Given the description of an element on the screen output the (x, y) to click on. 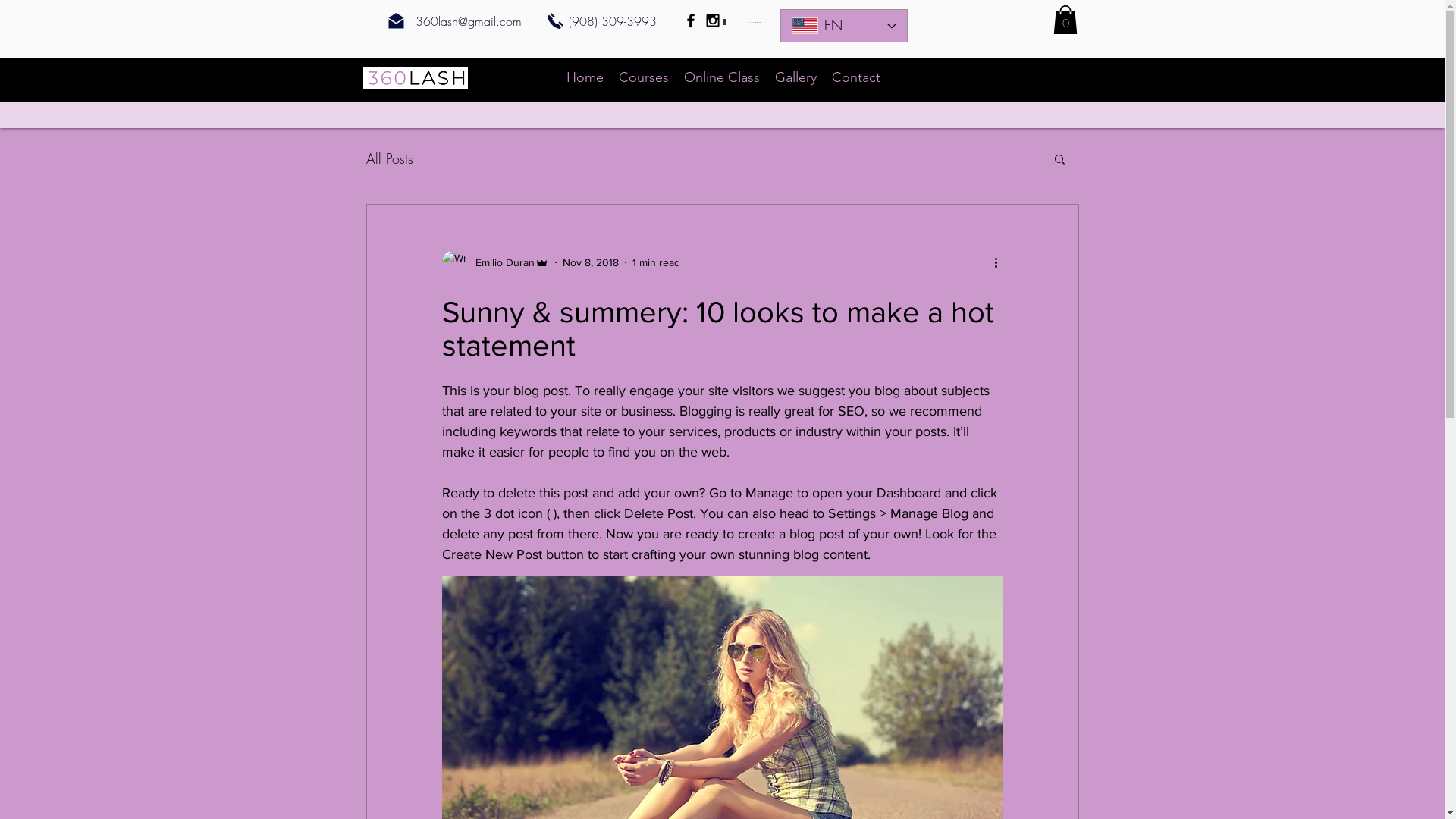
(908) 309-3993 Element type: text (612, 20)
Contact Element type: text (855, 76)
Courses Element type: text (643, 76)
0 Element type: text (1064, 19)
Emilio Duran Element type: text (494, 262)
Gallery Element type: text (795, 76)
All Posts Element type: text (388, 158)
360lash@gmail.com Element type: text (468, 20)
Home Element type: text (584, 76)
Online Class Element type: text (721, 76)
